Given the description of an element on the screen output the (x, y) to click on. 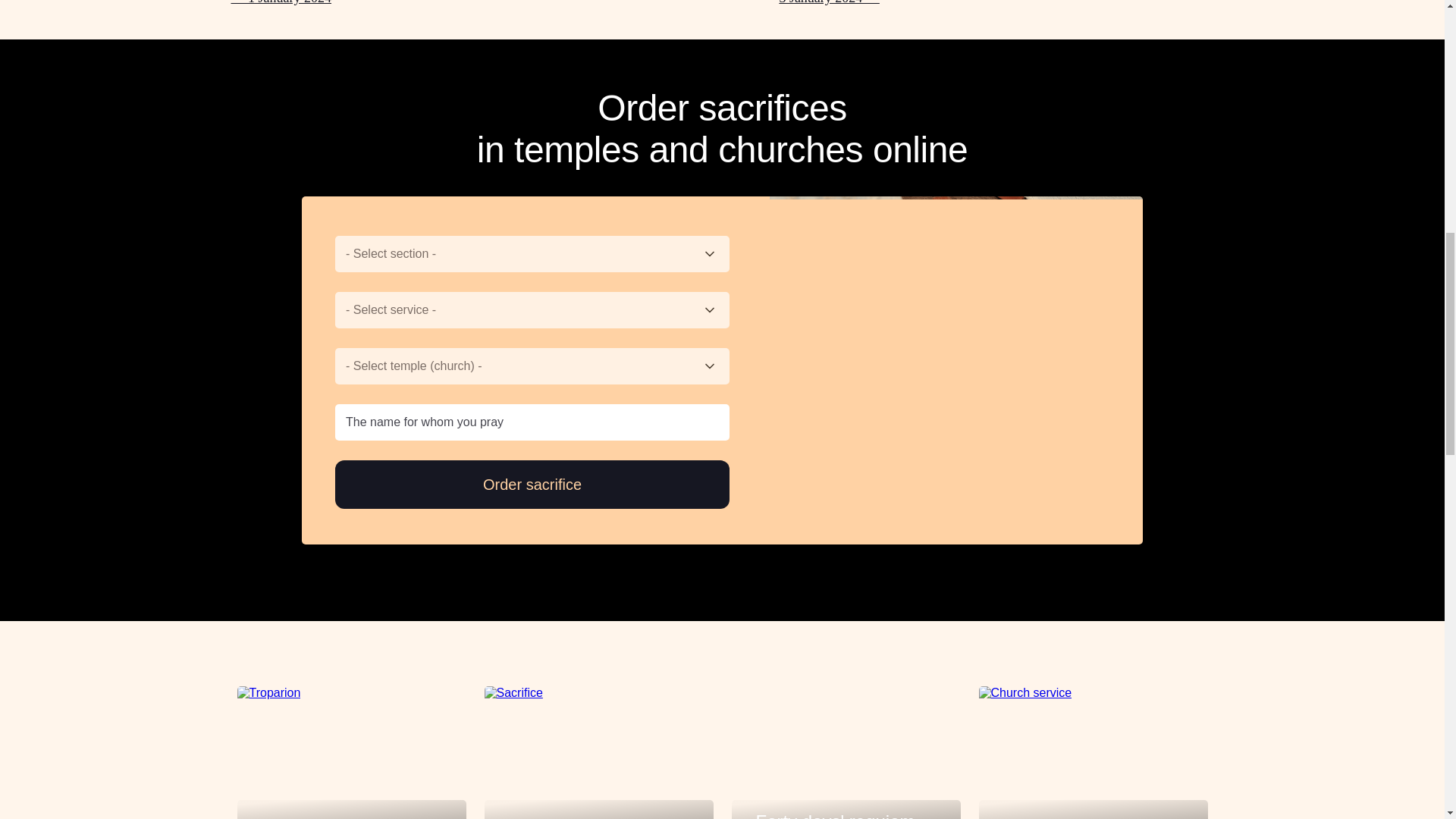
Order sacrifice (531, 484)
Order sacrifice (531, 484)
